Given the description of an element on the screen output the (x, y) to click on. 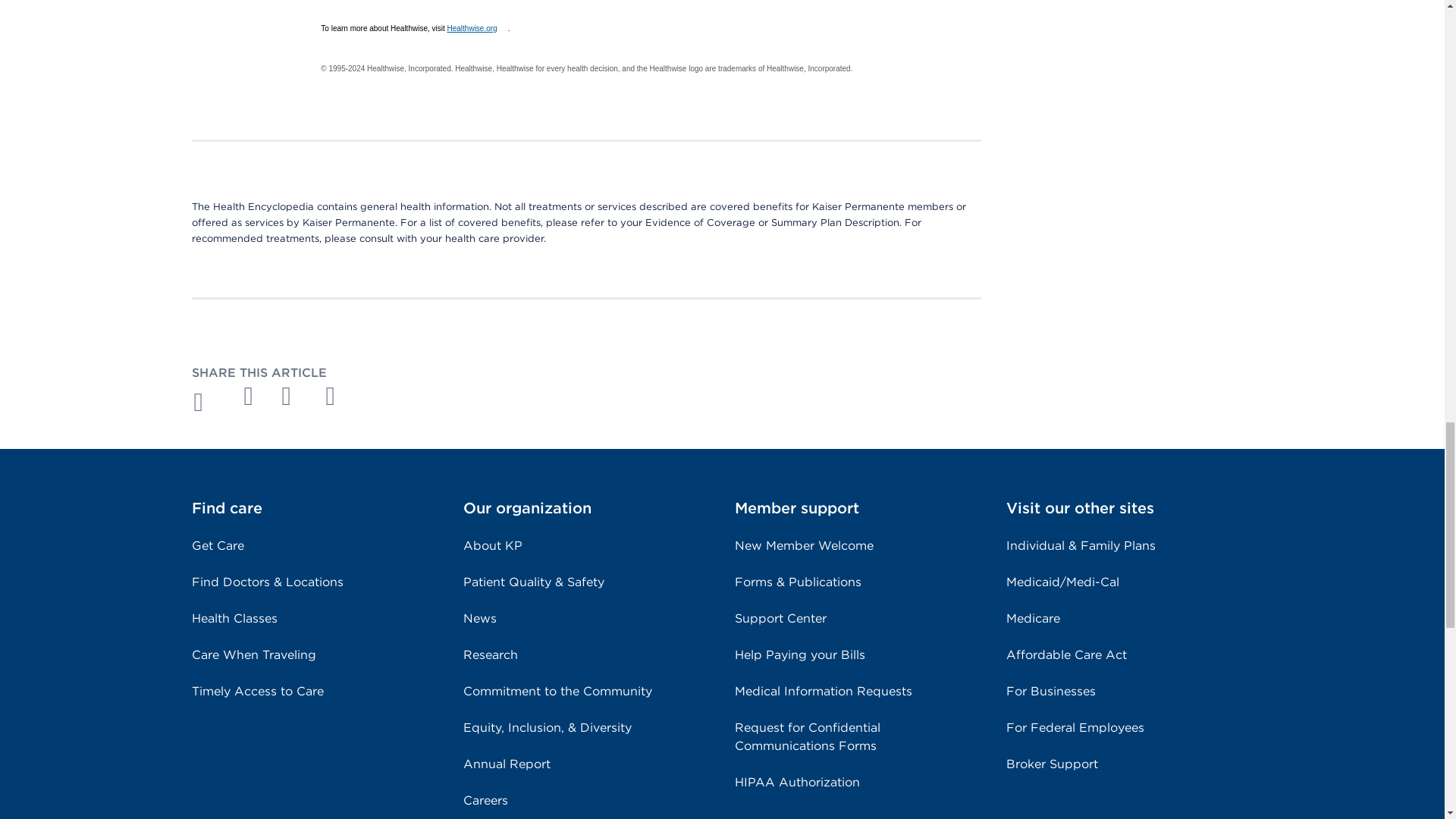
Opens in a new window, external (477, 28)
Opens in a new window, external (293, 395)
Opens in a new window, external (338, 395)
Opens in a new window, external (249, 395)
